Given the description of an element on the screen output the (x, y) to click on. 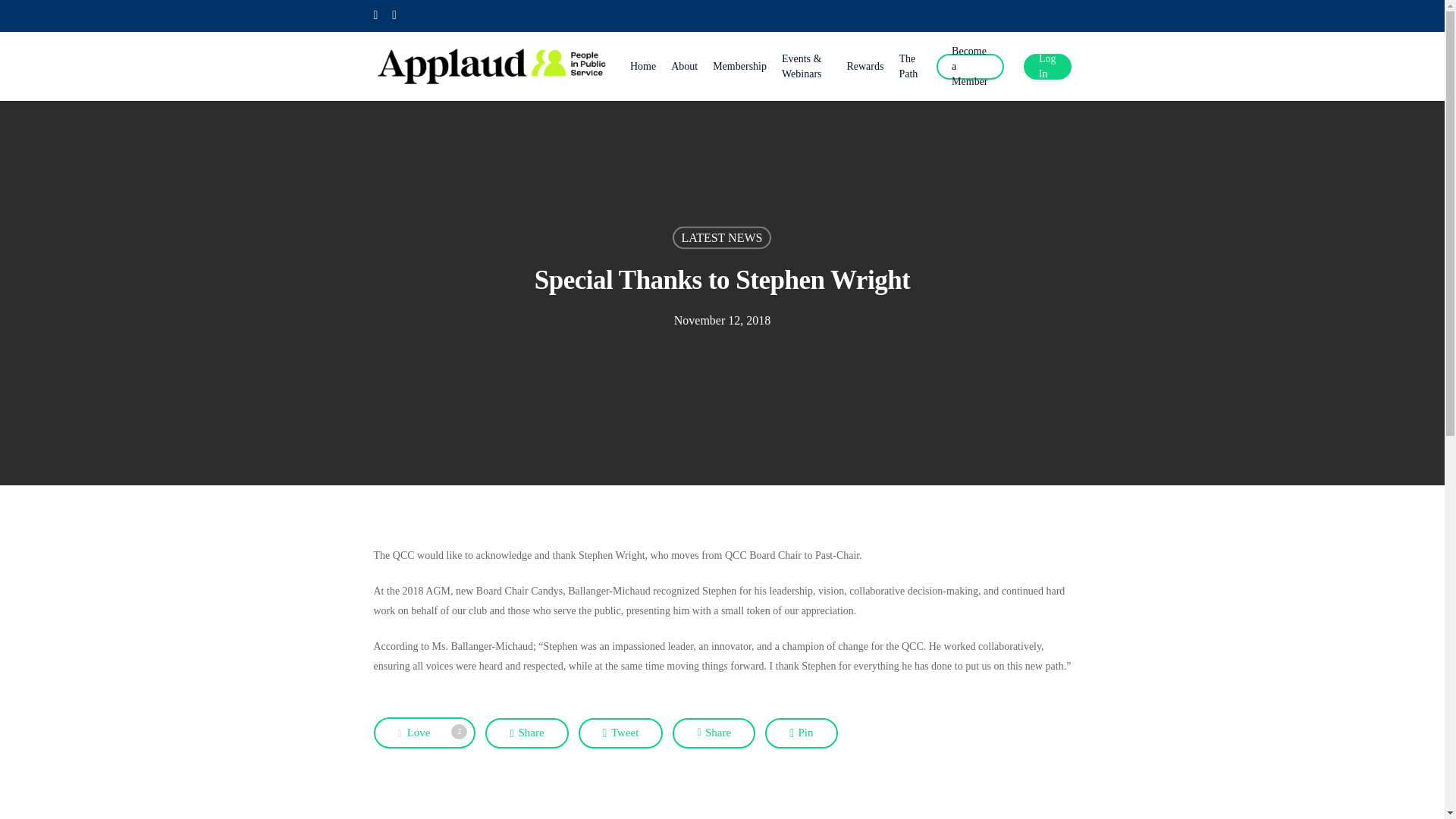
LATEST NEWS (721, 237)
Share (525, 733)
Tweet this (620, 733)
Log In (1047, 66)
Share (713, 733)
Become a Member (970, 66)
Share this (525, 733)
Love this (424, 732)
Home (424, 732)
Pin (643, 66)
About (801, 733)
Share this (684, 66)
Rewards (713, 733)
Membership (864, 66)
